Given the description of an element on the screen output the (x, y) to click on. 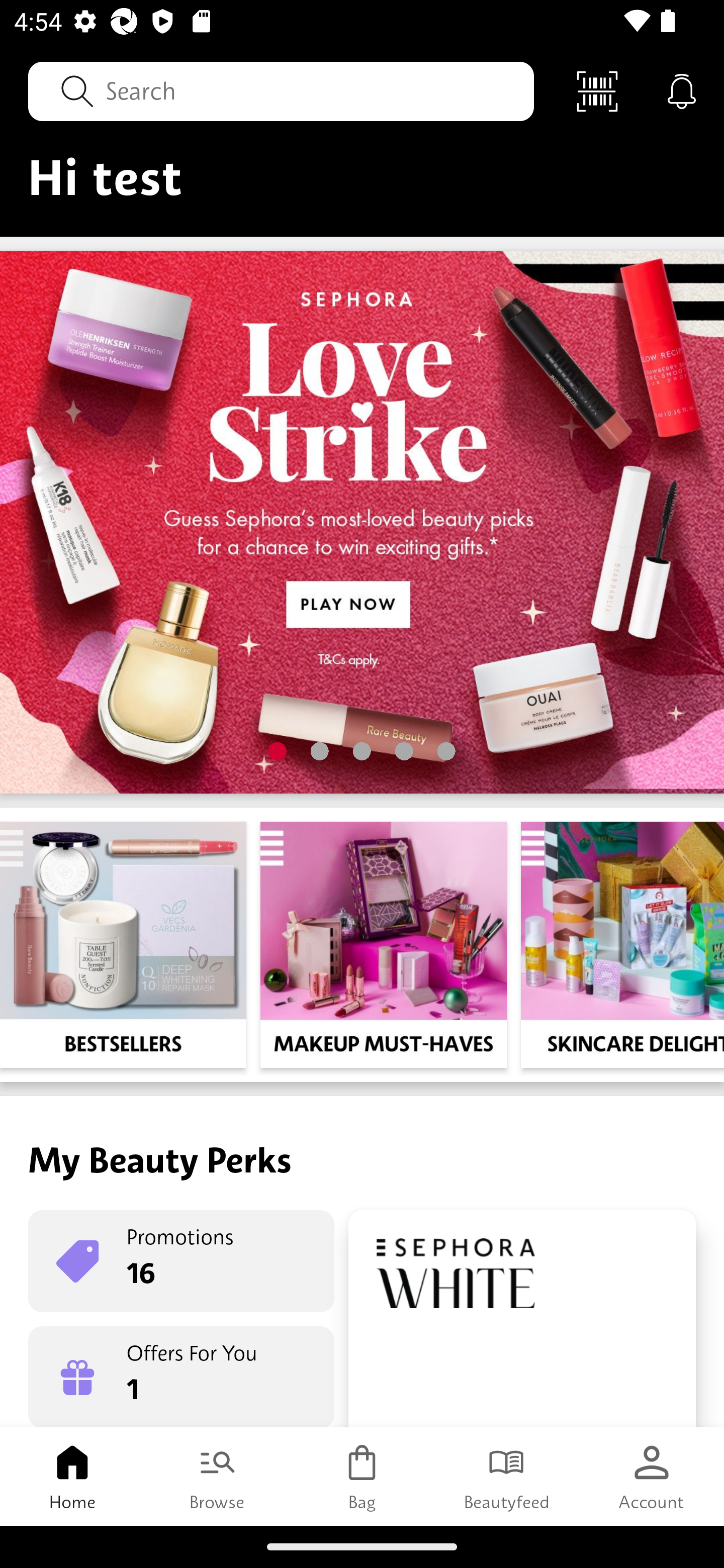
Scan Code (597, 90)
Notifications (681, 90)
Search (281, 90)
Promotions 16 (181, 1261)
Rewards Boutique 90 Pts (521, 1318)
Offers For You 1 (181, 1376)
Browse (216, 1475)
Bag (361, 1475)
Beautyfeed (506, 1475)
Account (651, 1475)
